Given the description of an element on the screen output the (x, y) to click on. 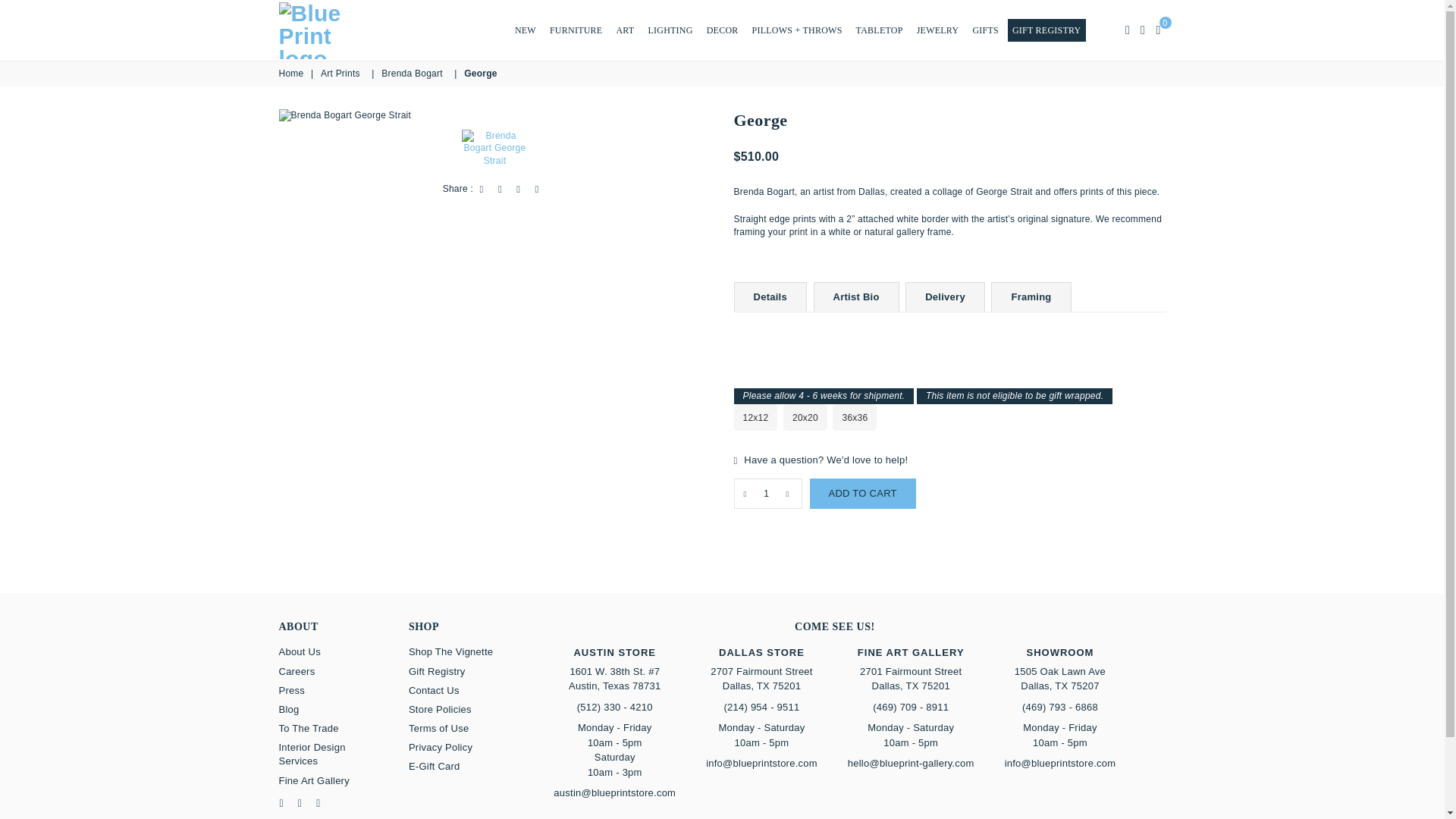
Blue Print (328, 29)
Pin on Pinterest (518, 189)
Quantity (767, 493)
DECOR (721, 29)
FURNITURE (575, 29)
ART (625, 29)
NEW (525, 29)
Share on Facebook (481, 189)
TABLETOP (879, 29)
LIGHTING (670, 29)
Tweet on Twitter (500, 189)
Share by Email (537, 189)
Back to the home page (292, 73)
